Given the description of an element on the screen output the (x, y) to click on. 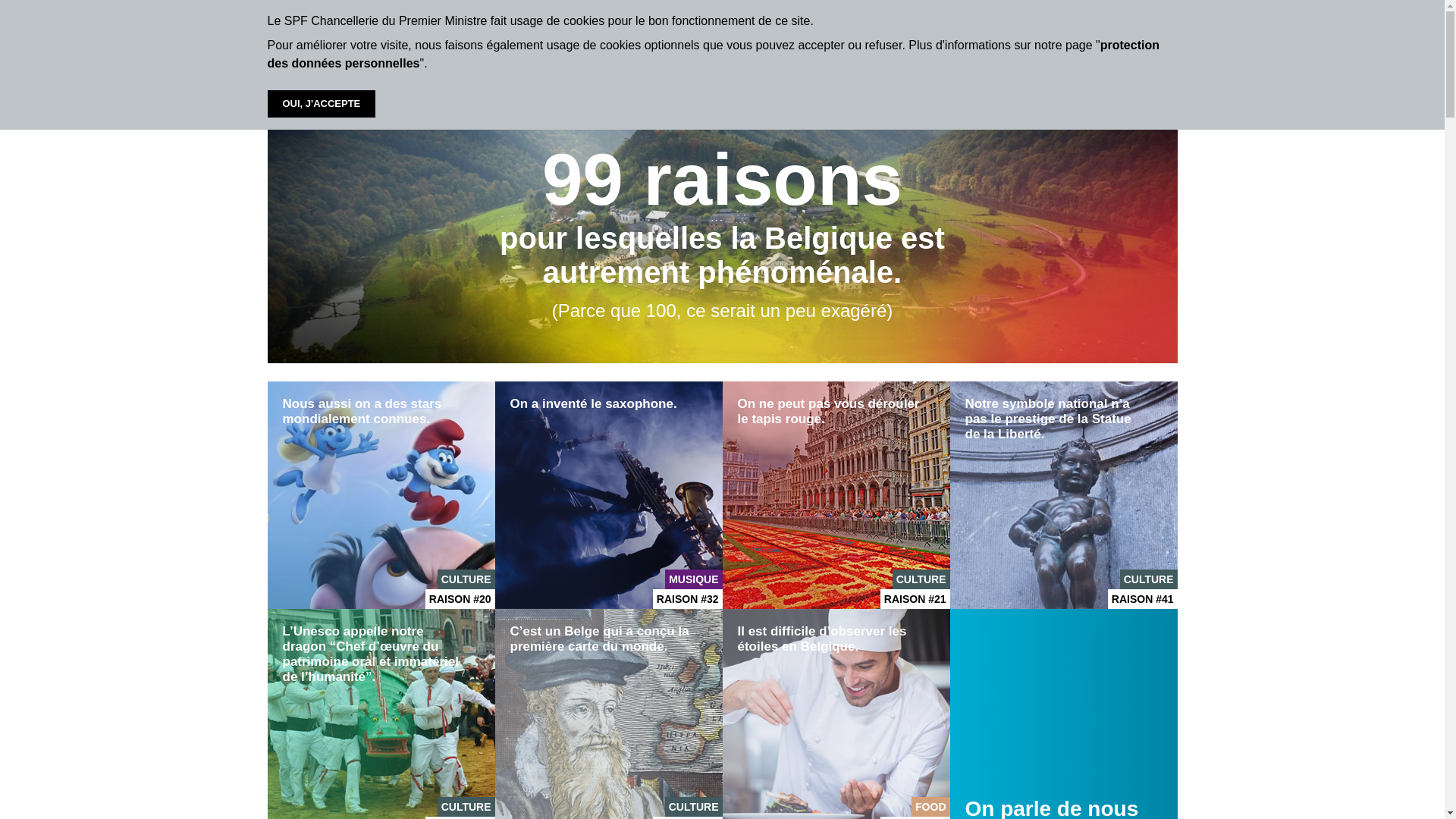
NL Element type: text (1135, 51)
DE Element type: text (1091, 51)
FR Element type: text (1113, 51)
La Belgique en raccourci Element type: text (333, 53)
EN Element type: text (1157, 51)
OUI, J'ACCEPTE Element type: text (320, 103)
